Given the description of an element on the screen output the (x, y) to click on. 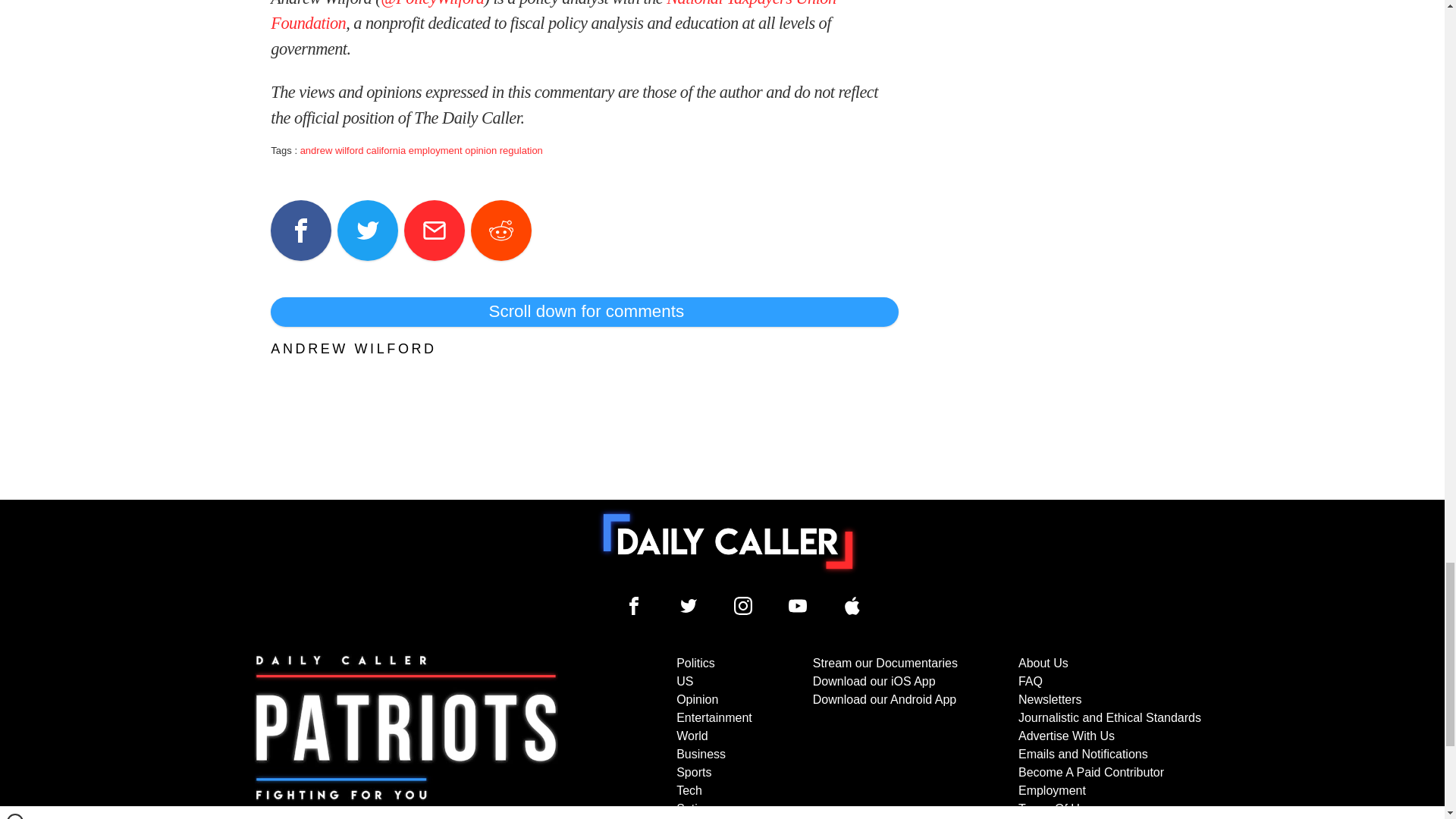
Daily Caller YouTube (852, 606)
Scroll down for comments (584, 311)
Subscribe to The Daily Caller (405, 736)
Daily Caller Twitter (688, 606)
To home page (727, 541)
Daily Caller YouTube (797, 606)
Daily Caller Facebook (633, 606)
Daily Caller Instagram (742, 606)
